Given the description of an element on the screen output the (x, y) to click on. 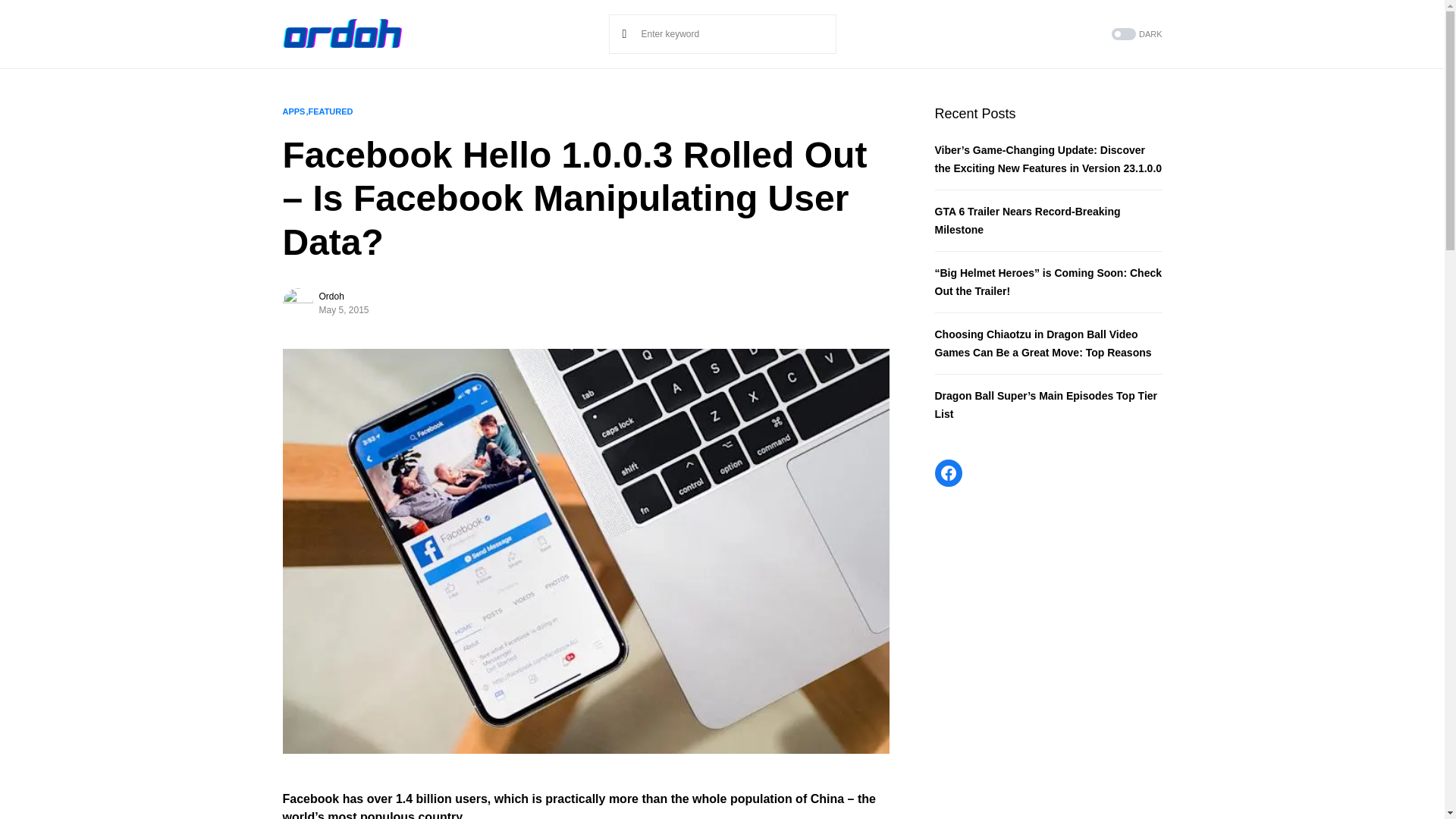
FEATURED (329, 111)
APPS (293, 111)
Ordoh (330, 296)
